Given the description of an element on the screen output the (x, y) to click on. 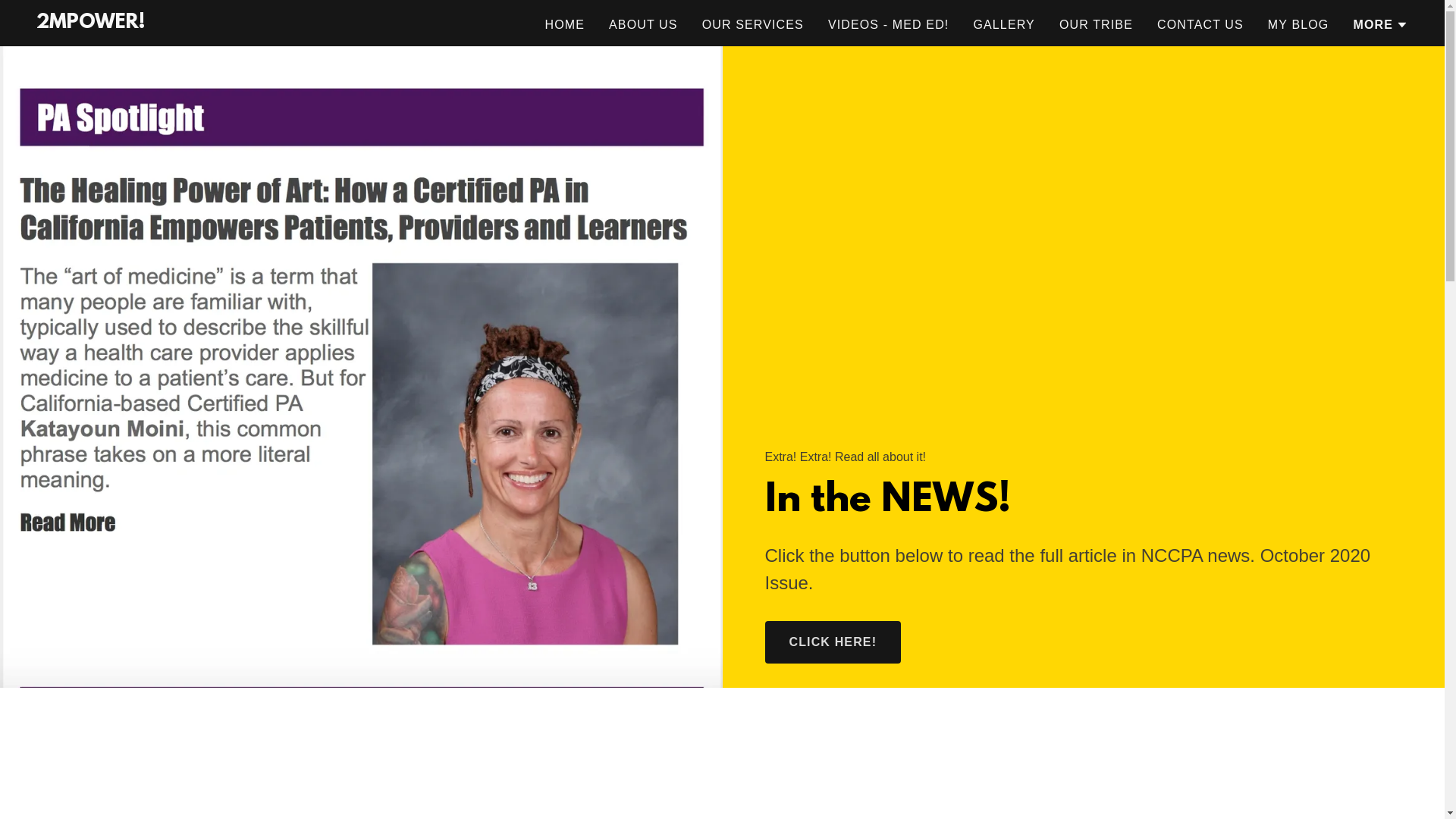
CONTACT US Element type: text (1200, 24)
CLICK HERE! Element type: text (832, 642)
MORE Element type: text (1380, 24)
MY BLOG Element type: text (1298, 24)
2MPOWER! Element type: text (90, 23)
GALLERY Element type: text (1003, 24)
HOME Element type: text (564, 24)
OUR TRIBE Element type: text (1095, 24)
VIDEOS - MED ED! Element type: text (888, 24)
OUR SERVICES Element type: text (752, 24)
ABOUT US Element type: text (643, 24)
